Given the description of an element on the screen output the (x, y) to click on. 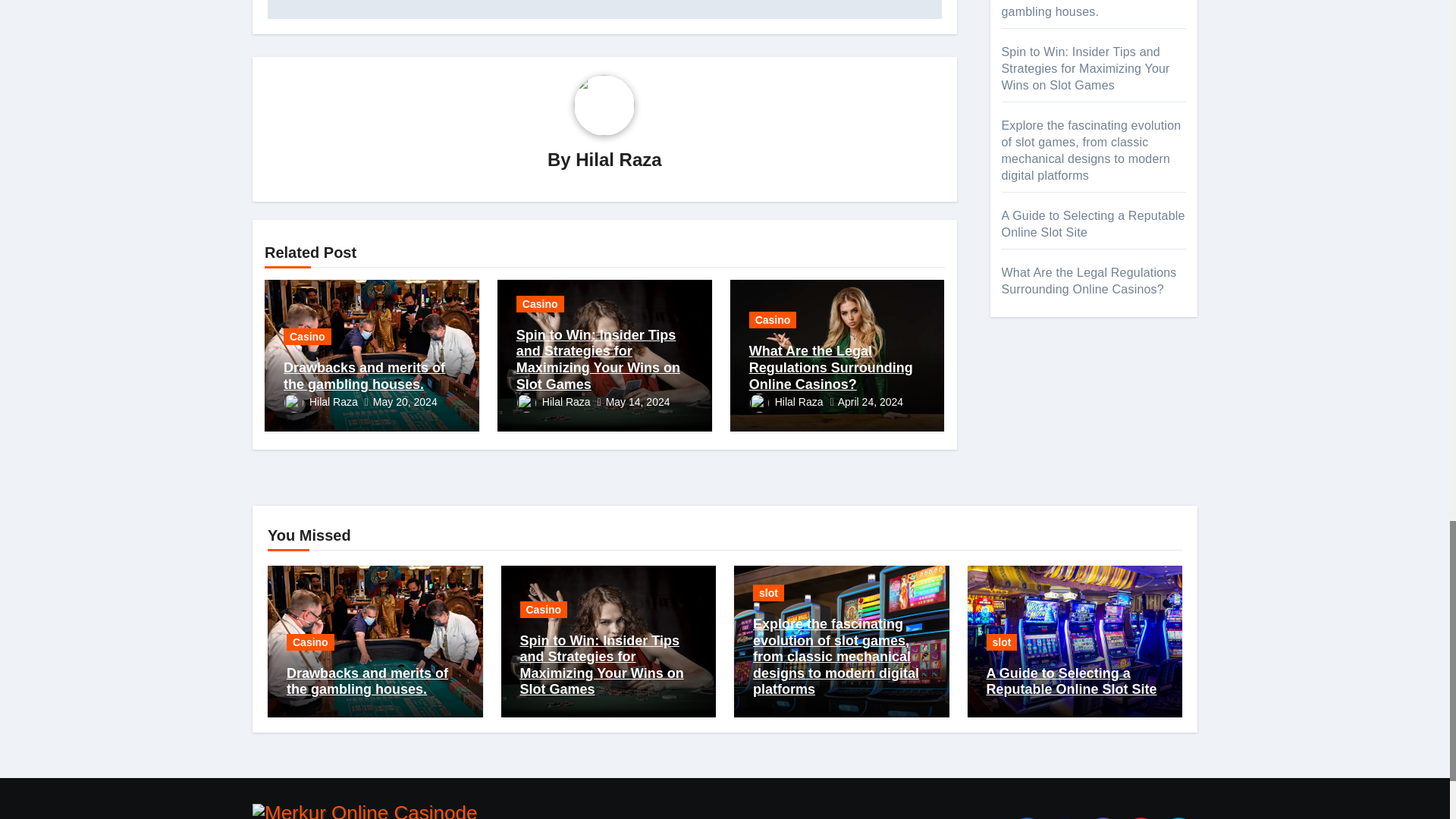
Permalink to: Drawbacks and merits of the gambling houses. (367, 681)
Permalink to: Drawbacks and merits of the gambling houses. (364, 376)
